Given the description of an element on the screen output the (x, y) to click on. 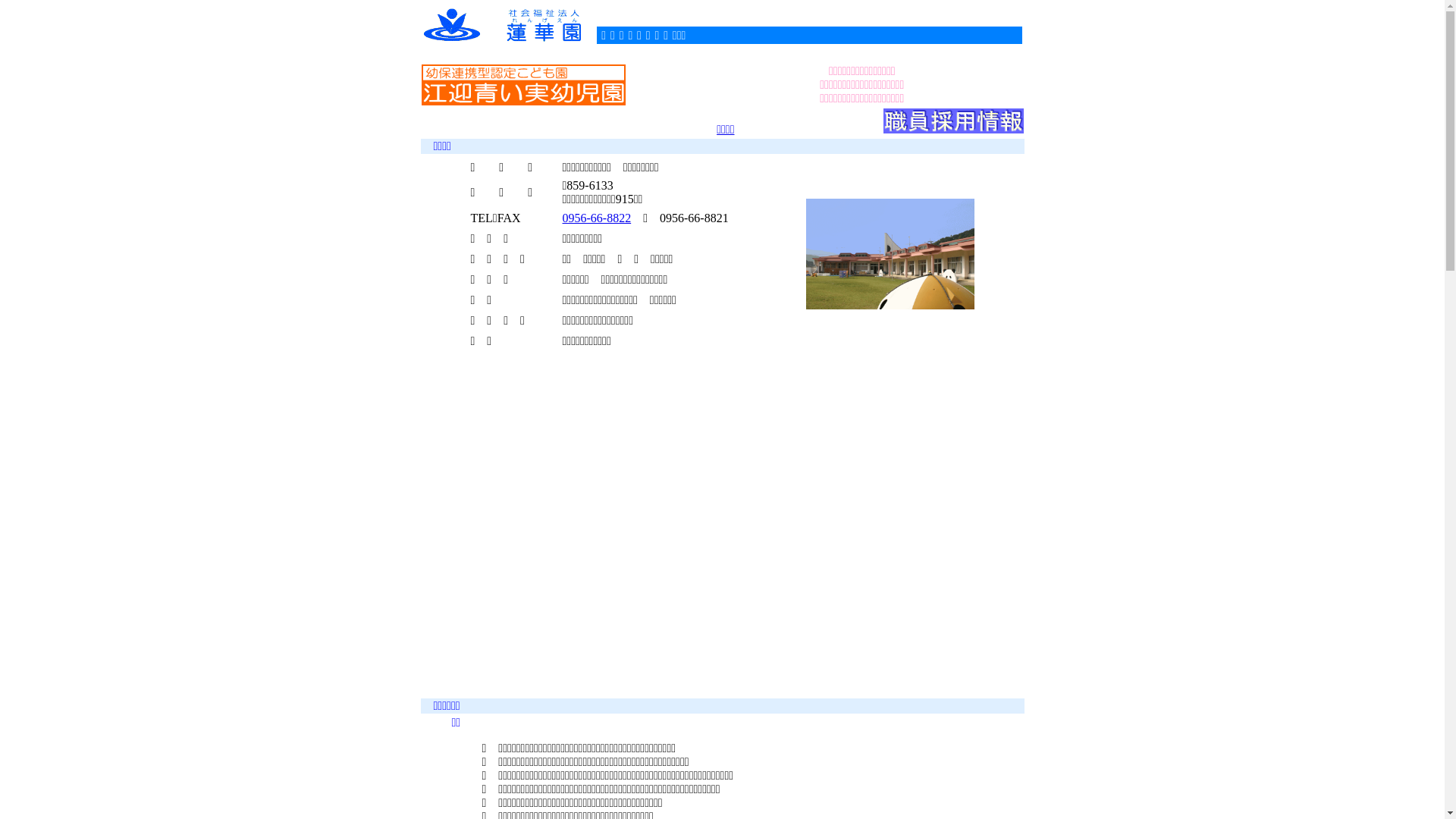
0956-66-8822 Element type: text (596, 216)
